Given the description of an element on the screen output the (x, y) to click on. 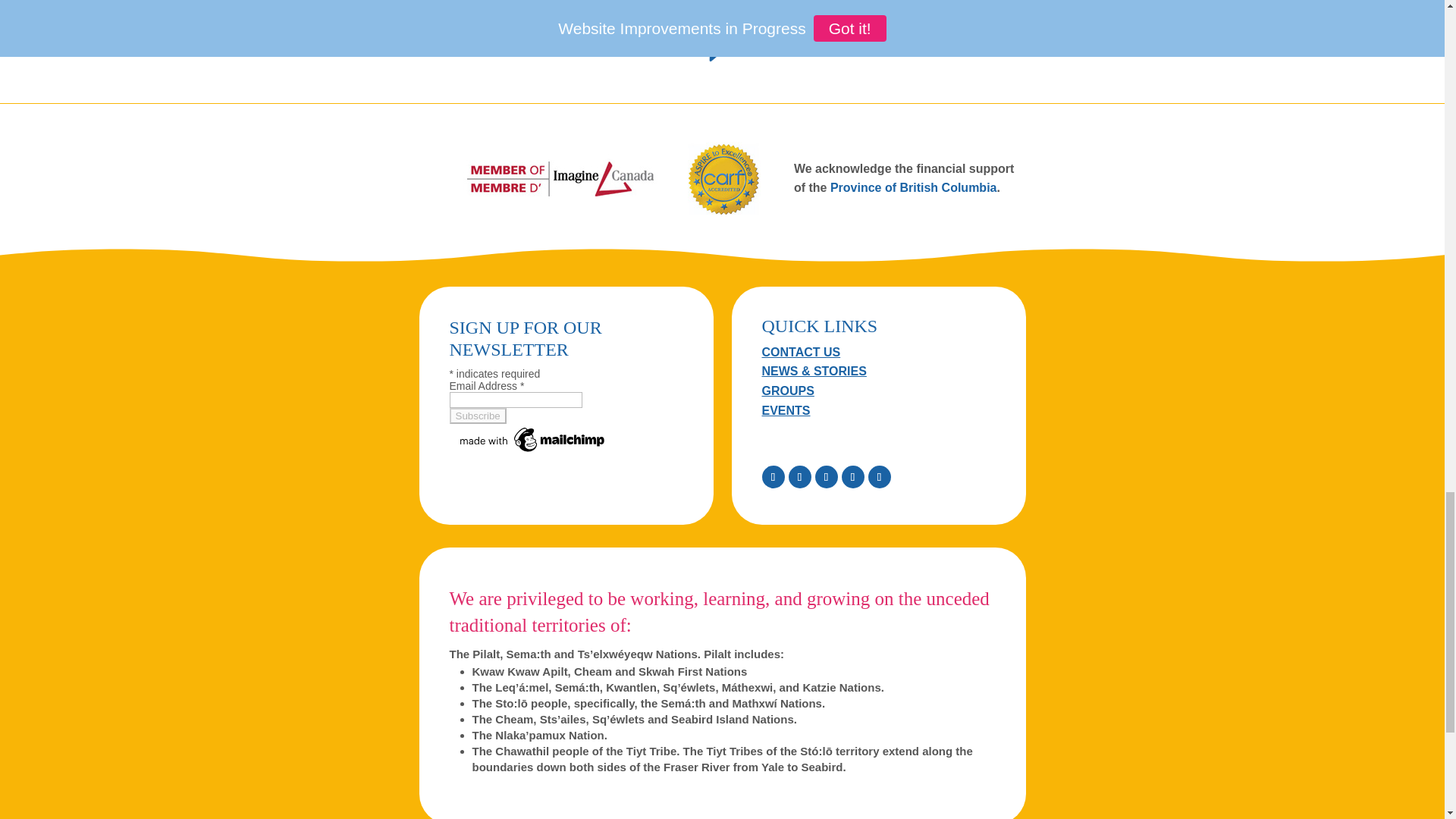
Subscribe (476, 415)
